Given the description of an element on the screen output the (x, y) to click on. 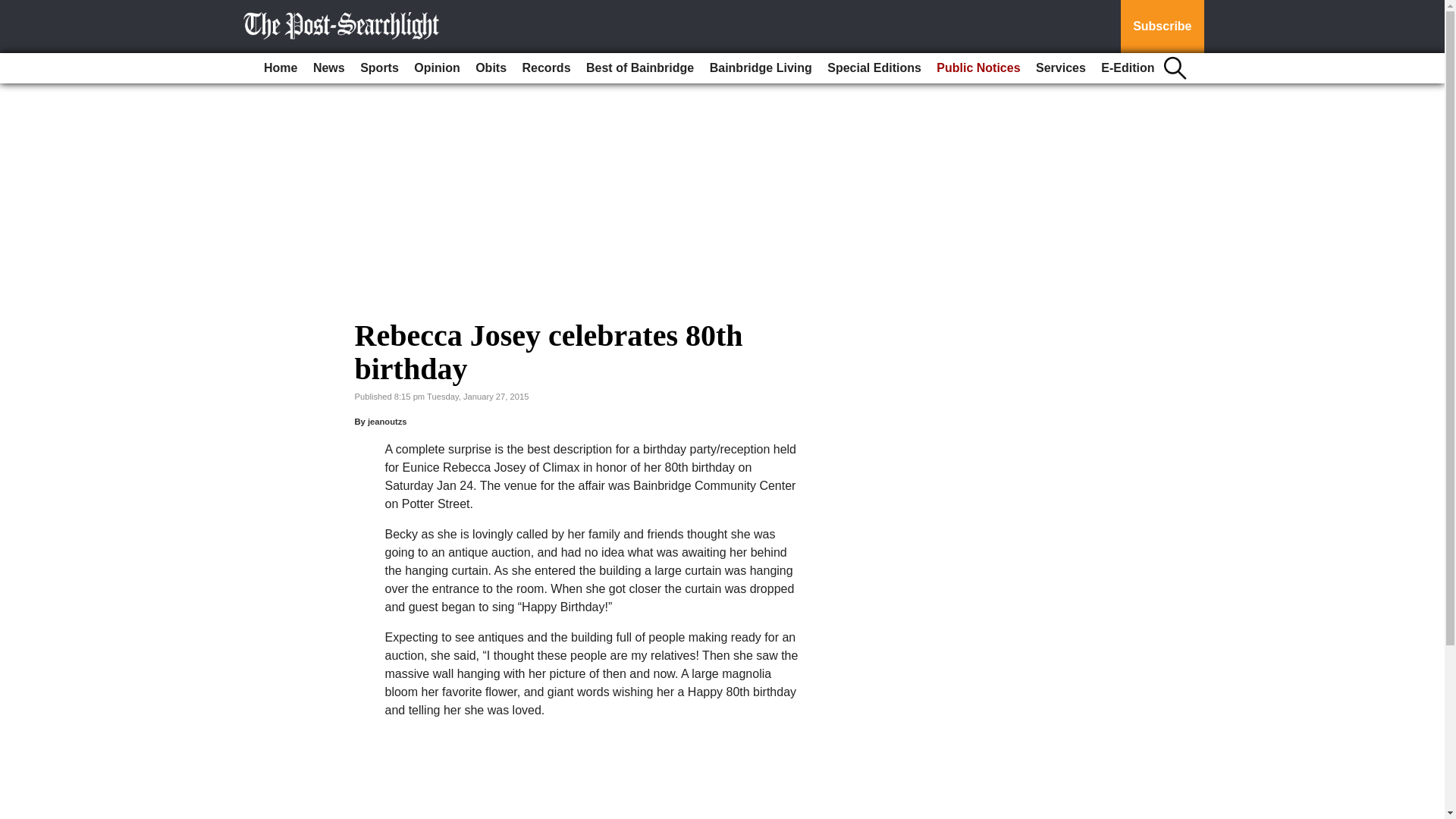
Sports (378, 68)
Services (1060, 68)
News (328, 68)
Home (279, 68)
Opinion (436, 68)
Bainbridge Living (760, 68)
Go (13, 9)
jeanoutzs (387, 420)
Best of Bainbridge (639, 68)
E-Edition (1127, 68)
Obits (490, 68)
Public Notices (978, 68)
Special Editions (874, 68)
Records (546, 68)
Subscribe (1162, 26)
